Given the description of an element on the screen output the (x, y) to click on. 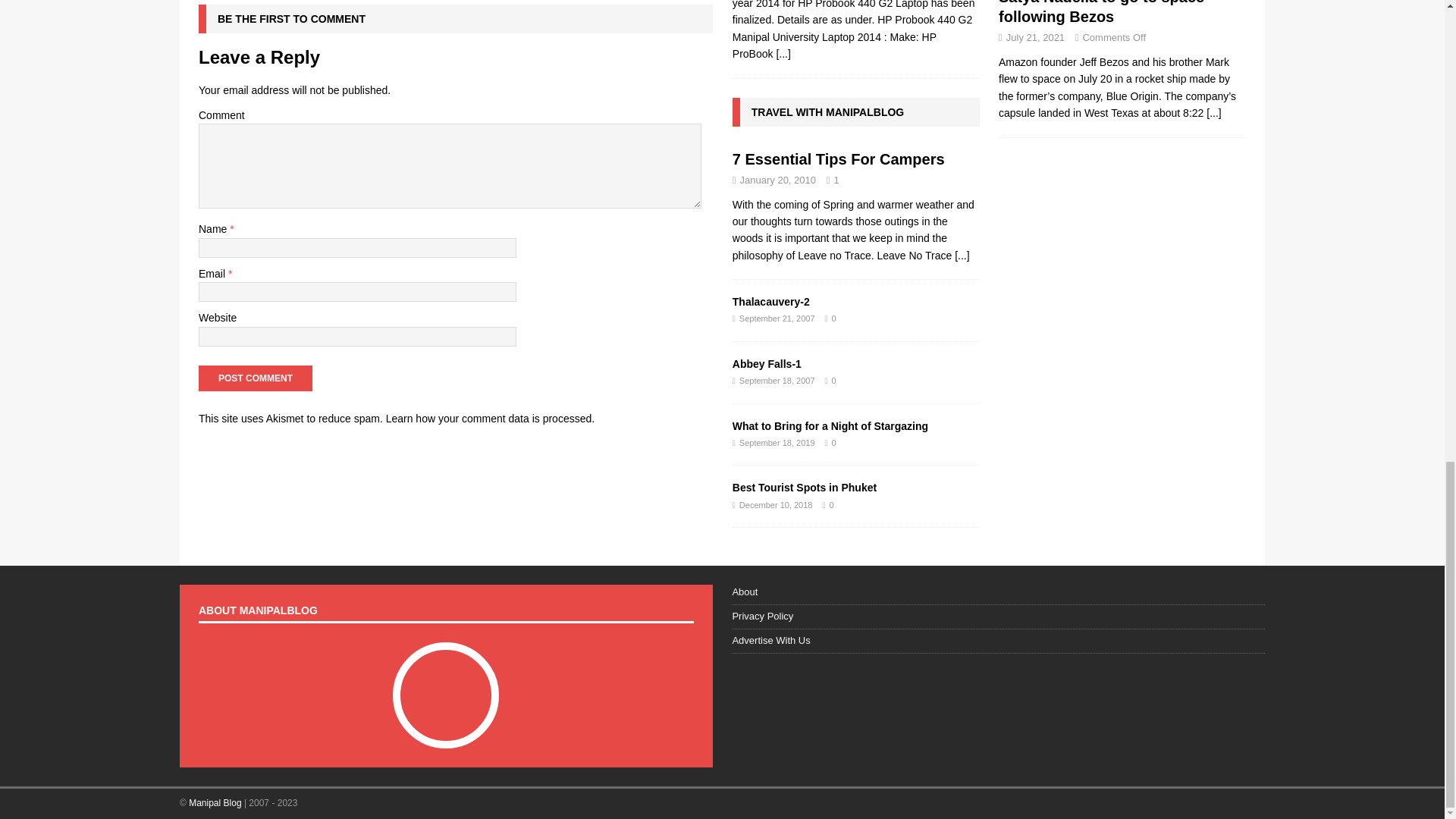
Post Comment (255, 378)
Learn how your comment data is processed (488, 418)
Post Comment (255, 378)
